Given the description of an element on the screen output the (x, y) to click on. 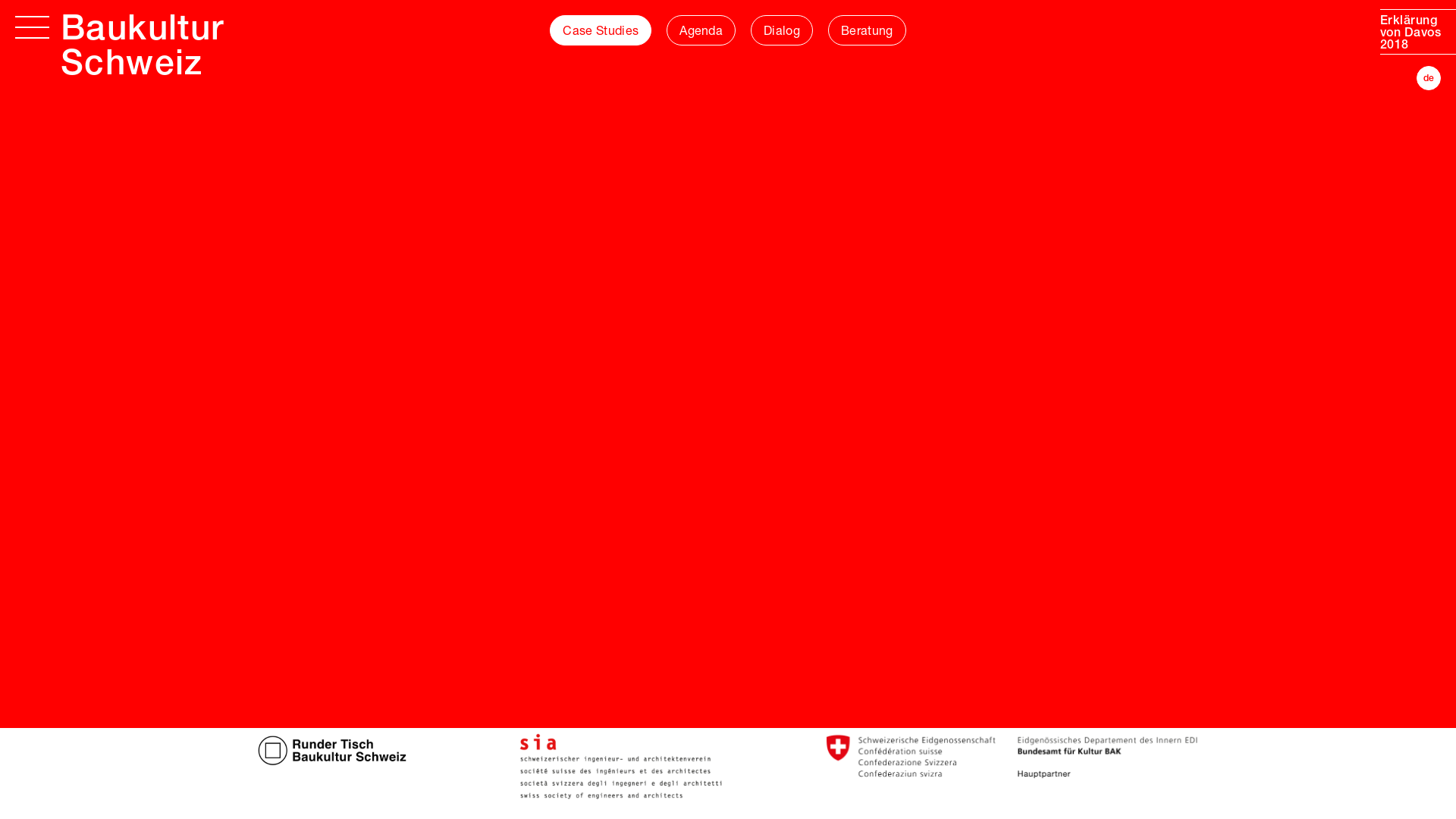
Case Studies Element type: text (600, 30)
Beratung Element type: text (867, 30)
Dialog Element type: text (781, 30)
Baukultur
Schweiz Element type: text (141, 48)
de Element type: text (1428, 77)
Agenda Element type: text (700, 30)
